Given the description of an element on the screen output the (x, y) to click on. 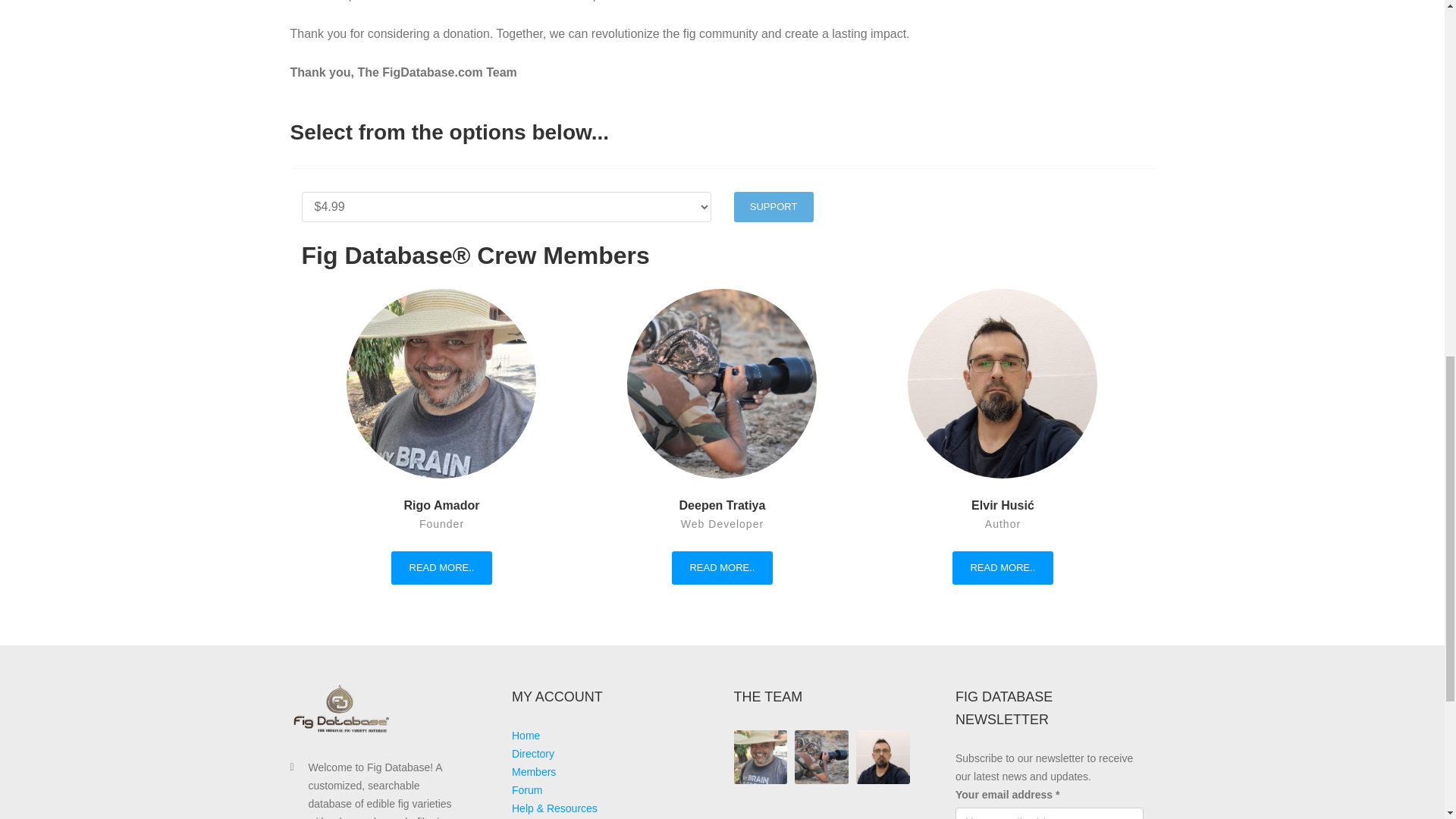
READ MORE.. (722, 567)
Forum (526, 789)
READ MORE.. (441, 567)
Support (773, 206)
Directory (533, 753)
Home (526, 735)
Support (773, 206)
Members (534, 771)
READ MORE.. (1002, 567)
